Given the description of an element on the screen output the (x, y) to click on. 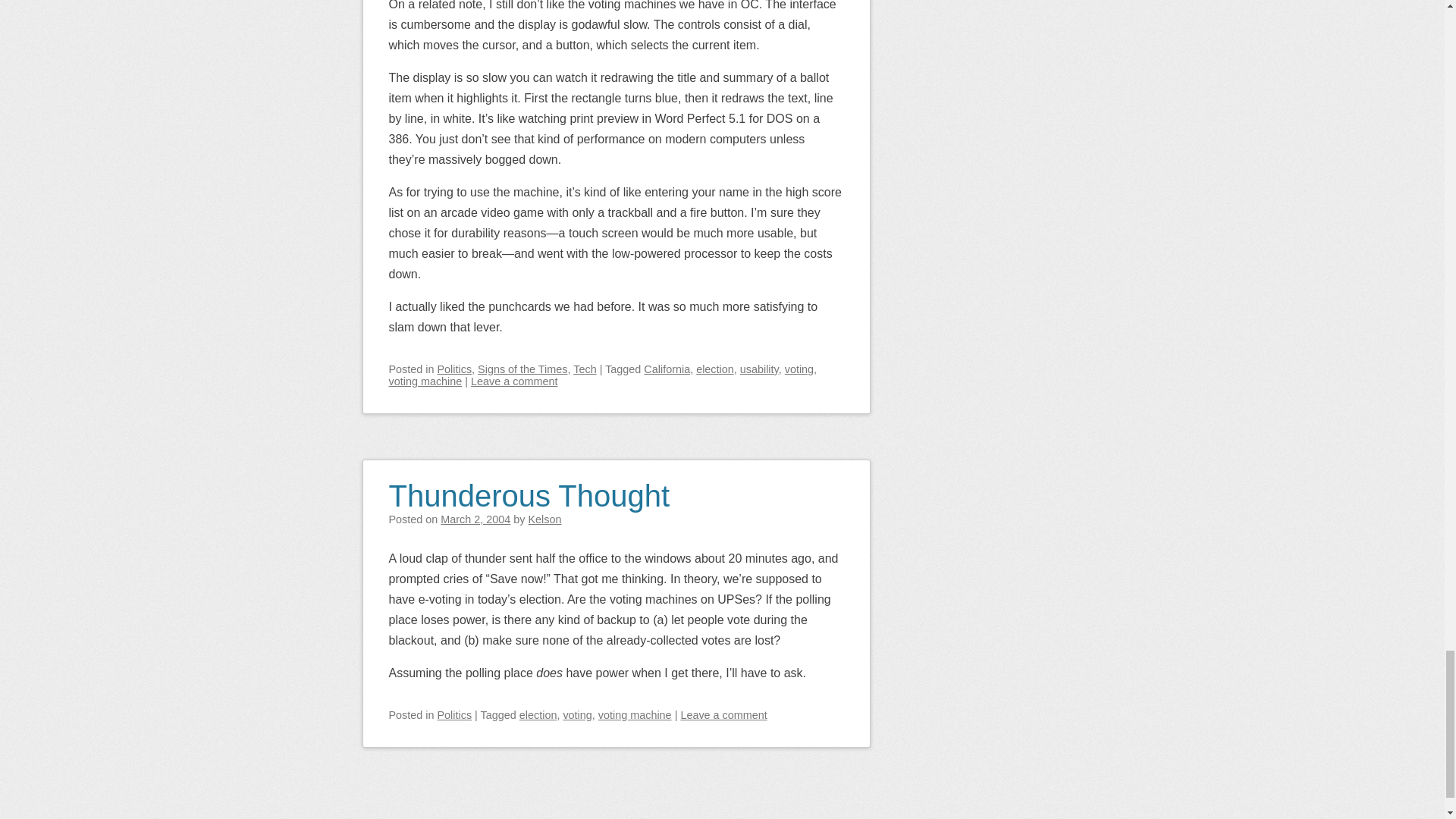
View all posts by Kelson (545, 519)
Permalink to Thunderous Thought (528, 486)
4:46 PM (476, 519)
